Given the description of an element on the screen output the (x, y) to click on. 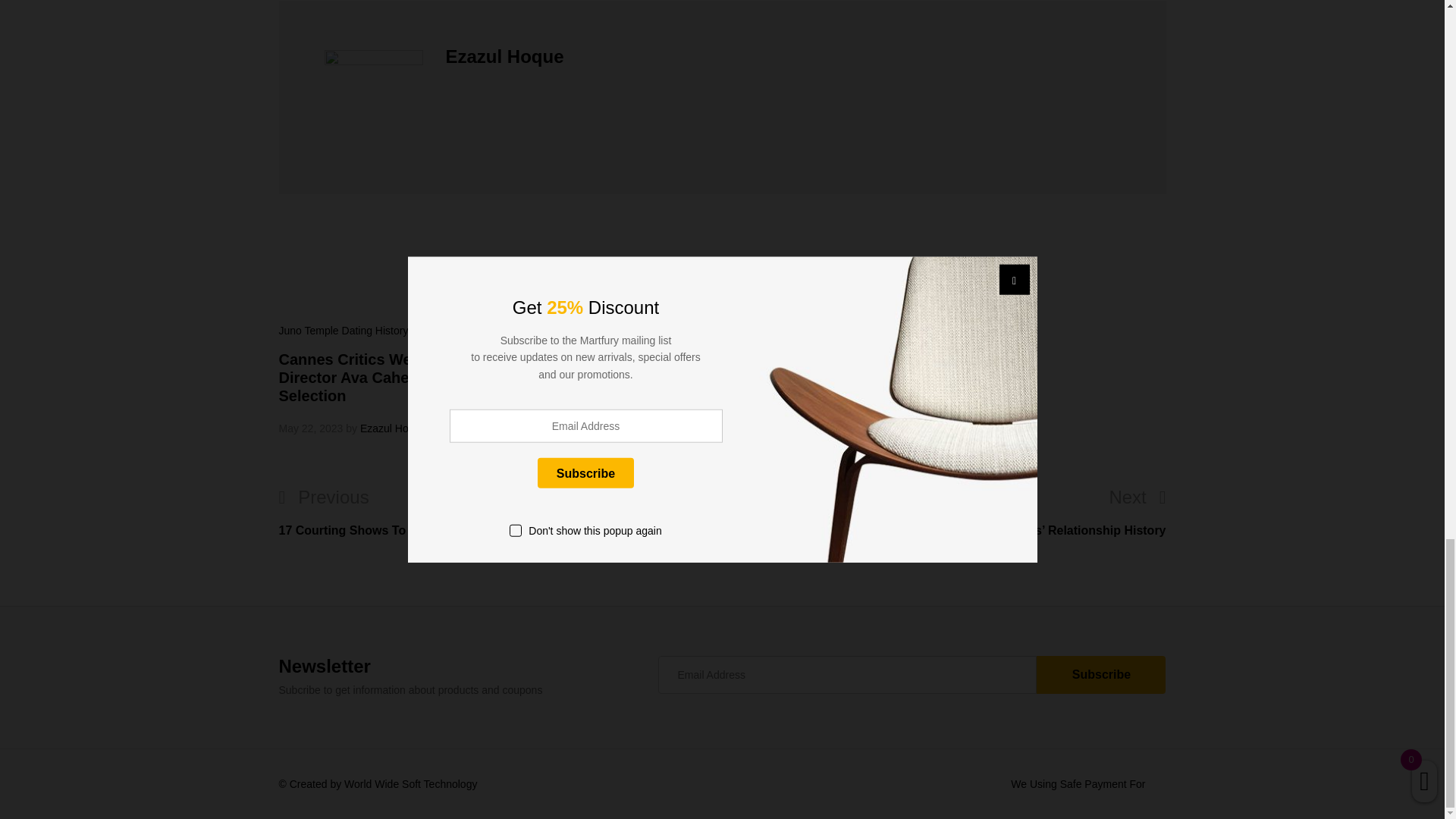
Subscribe (1101, 674)
